Given the description of an element on the screen output the (x, y) to click on. 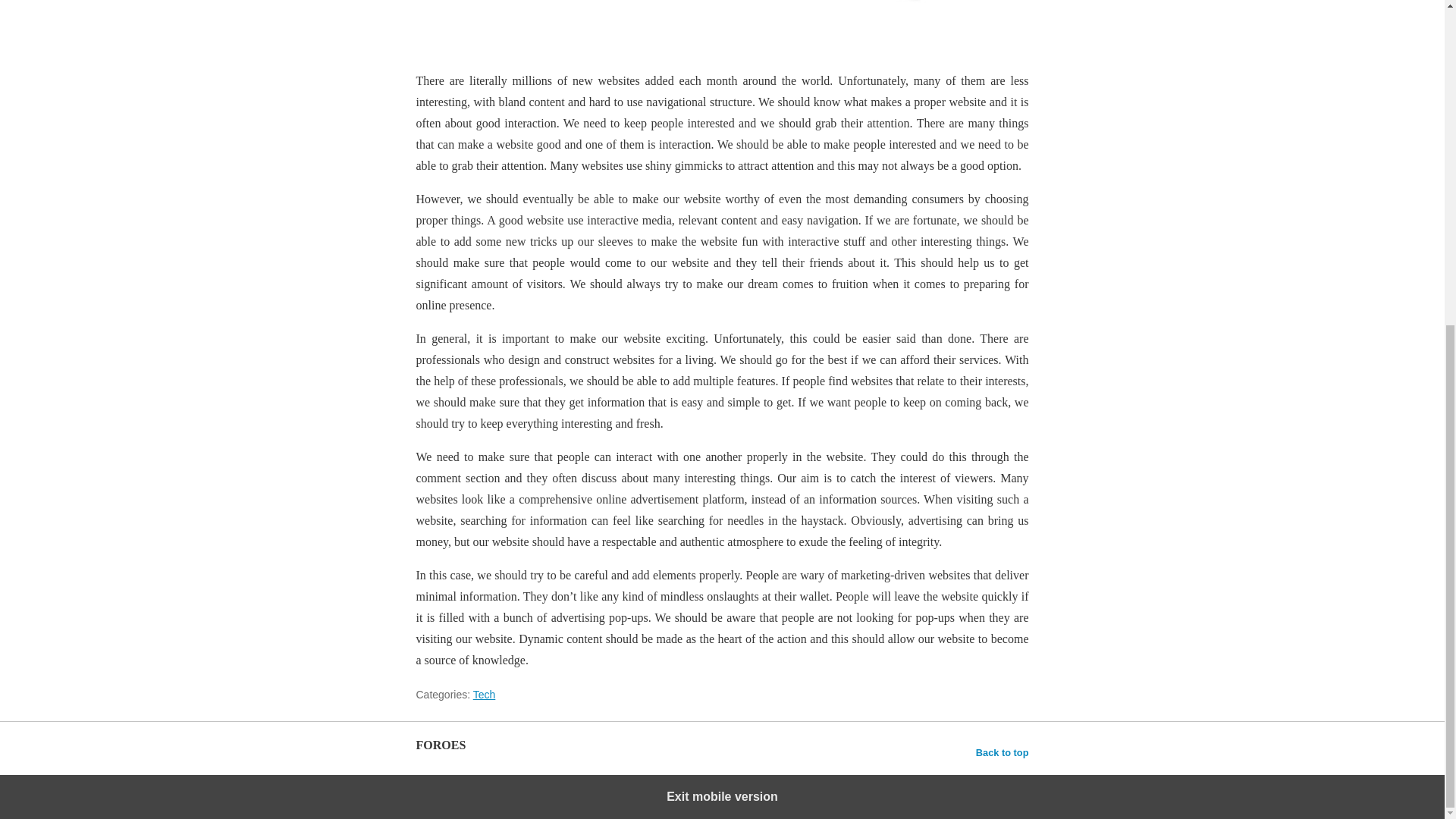
Back to top (1002, 752)
Tech (484, 694)
